Given the description of an element on the screen output the (x, y) to click on. 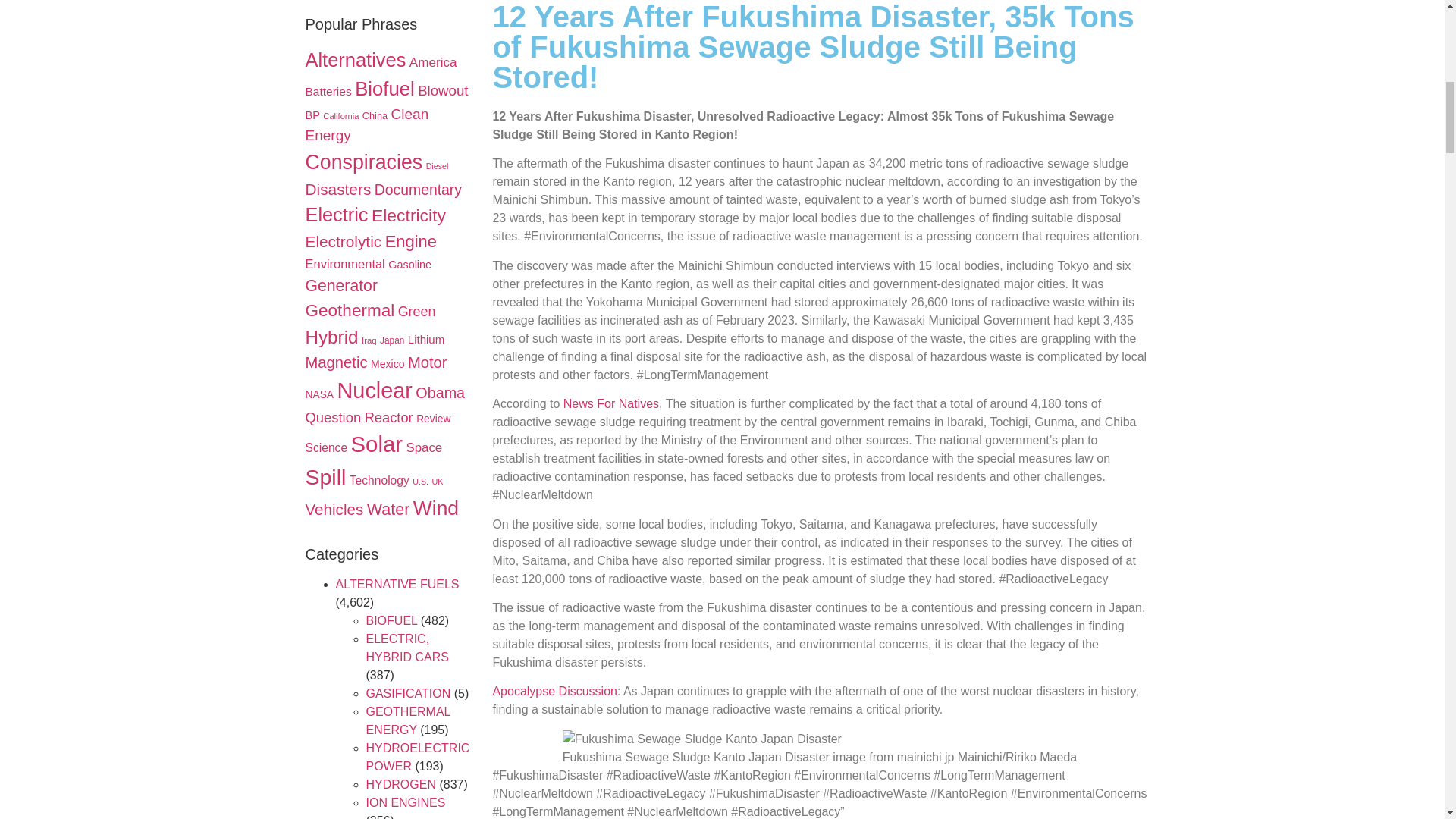
Question (332, 417)
Documentary (417, 189)
BP (311, 114)
Blowout (442, 90)
Diesel (437, 165)
China (374, 115)
Biofuel (384, 88)
Motor (426, 362)
Generator (340, 285)
Review (432, 418)
Hybrid (331, 336)
Engine (410, 240)
Disasters (337, 189)
Conspiracies (363, 161)
Electricity (408, 215)
